Given the description of an element on the screen output the (x, y) to click on. 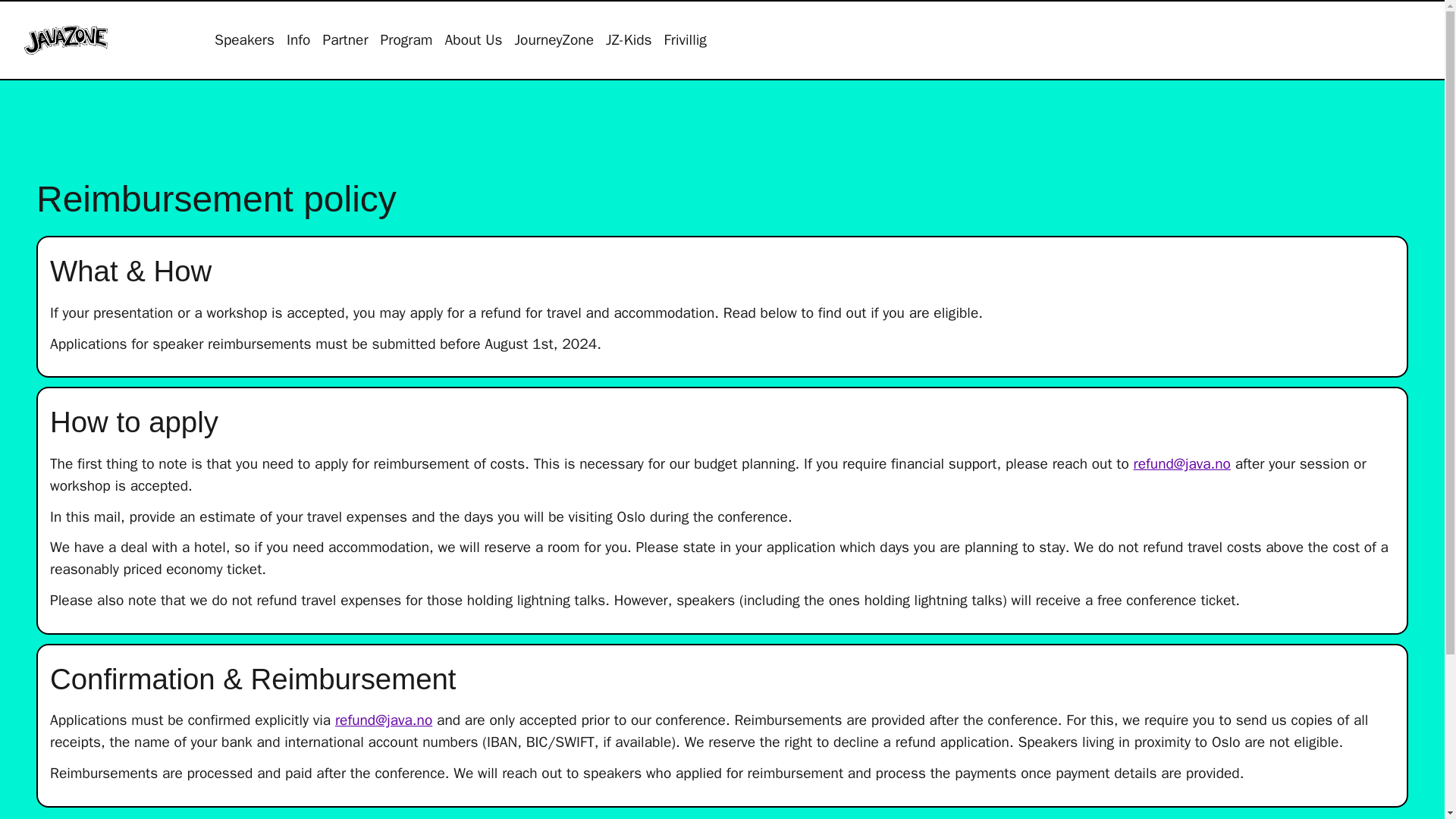
About Us (473, 40)
Frivillig (684, 40)
JZ-Kids (628, 40)
Info (298, 40)
Program (406, 40)
Speakers (244, 40)
JourneyZone (553, 40)
Partner (344, 40)
